Given the description of an element on the screen output the (x, y) to click on. 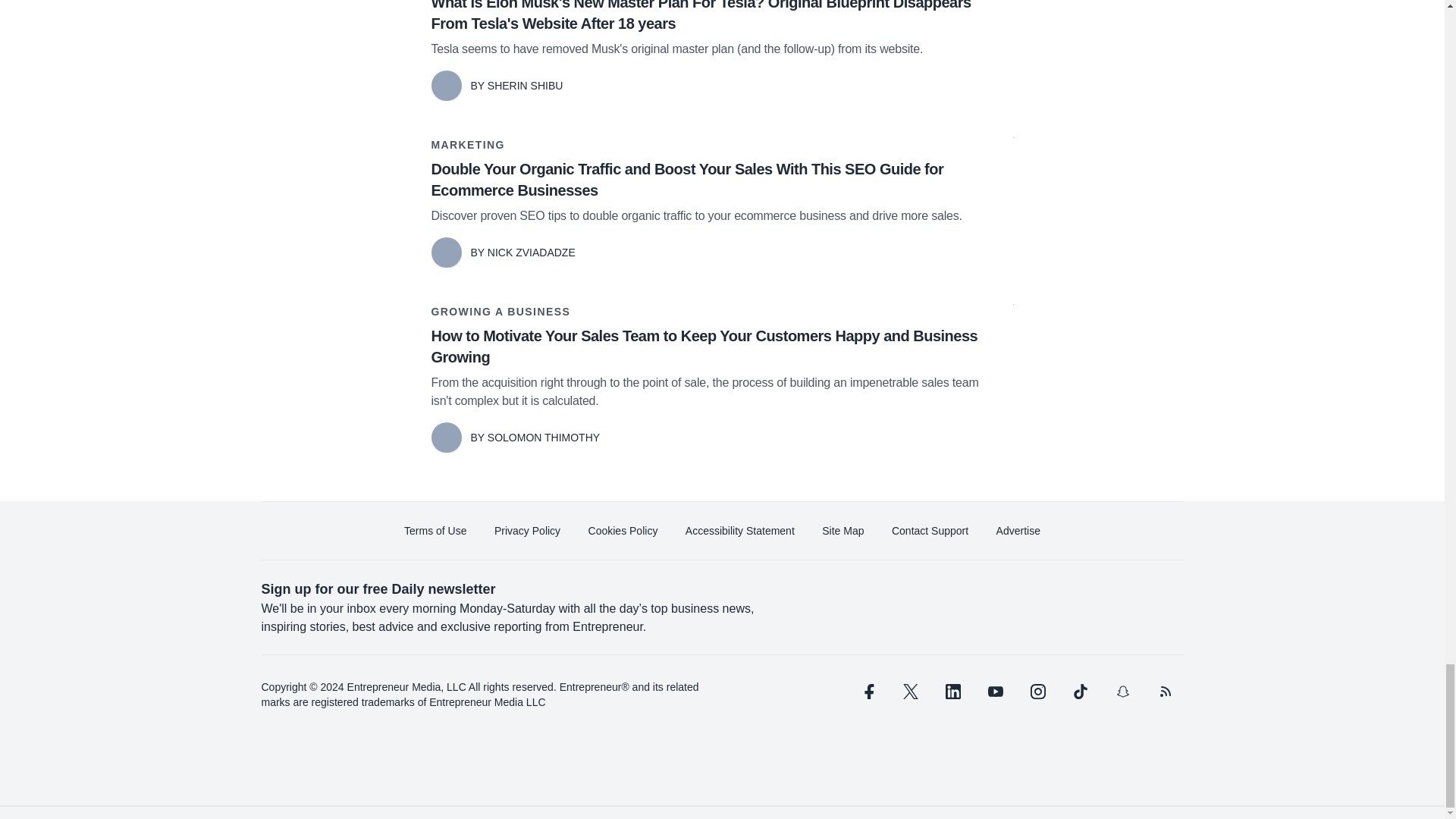
facebook (866, 691)
tiktok (1079, 691)
linkedin (952, 691)
rss (1164, 691)
youtube (994, 691)
twitter (909, 691)
snapchat (1121, 691)
instagram (1037, 691)
